Given the description of an element on the screen output the (x, y) to click on. 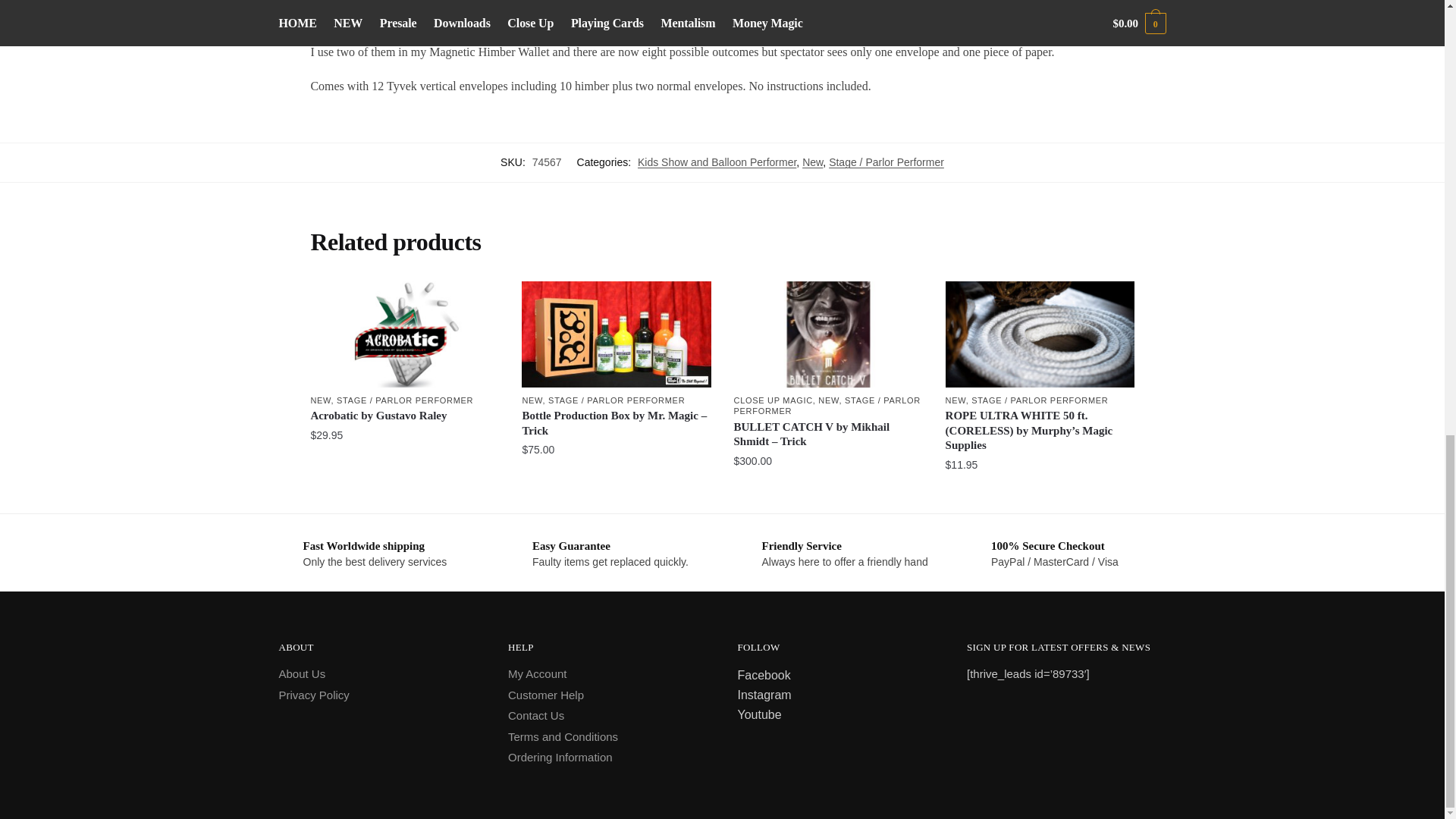
Acrobatic by Gustavo Raley (404, 334)
Kids Show and Balloon Performer (716, 162)
